Given the description of an element on the screen output the (x, y) to click on. 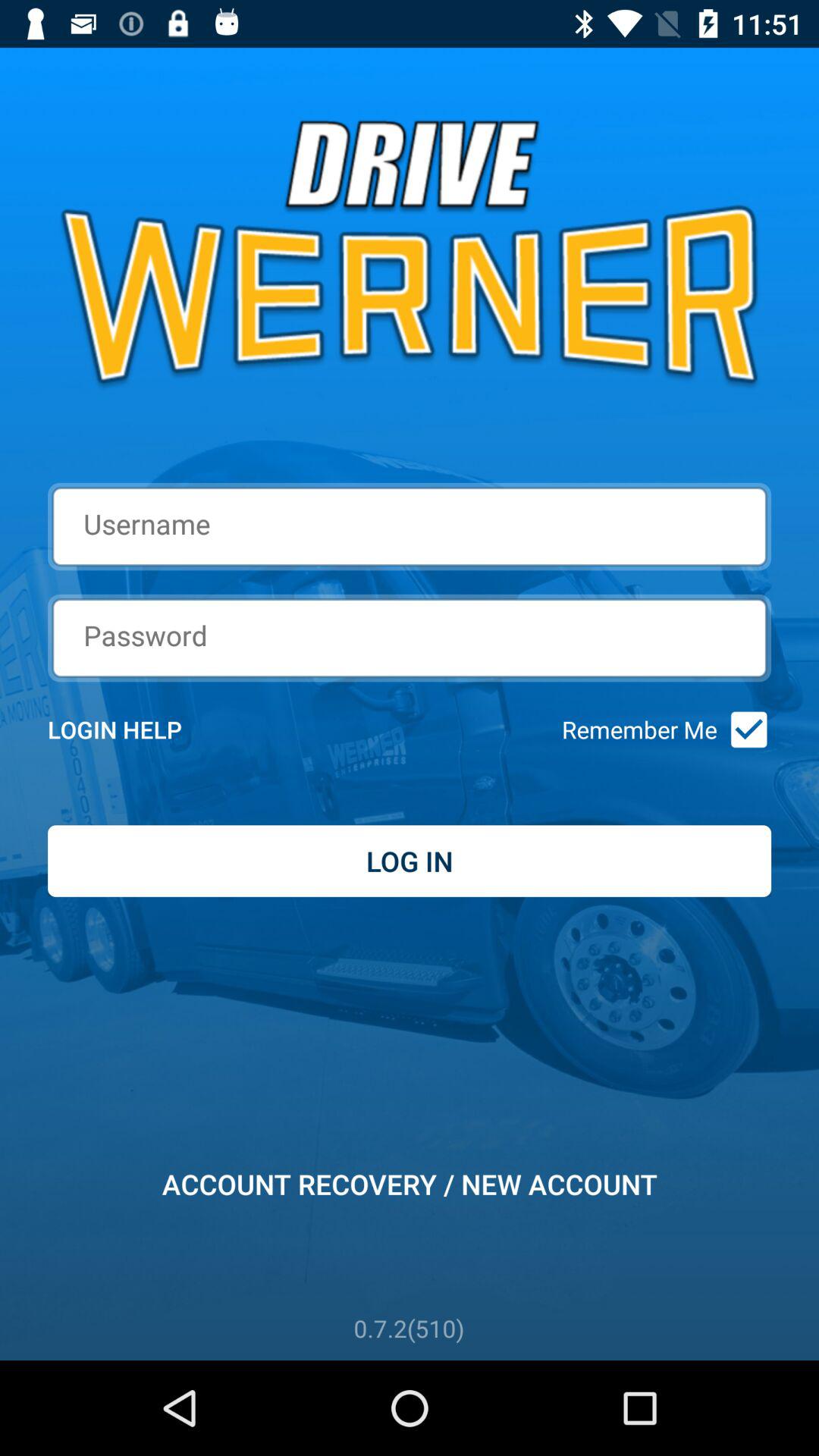
turn on the item above the log in (134, 729)
